Given the description of an element on the screen output the (x, y) to click on. 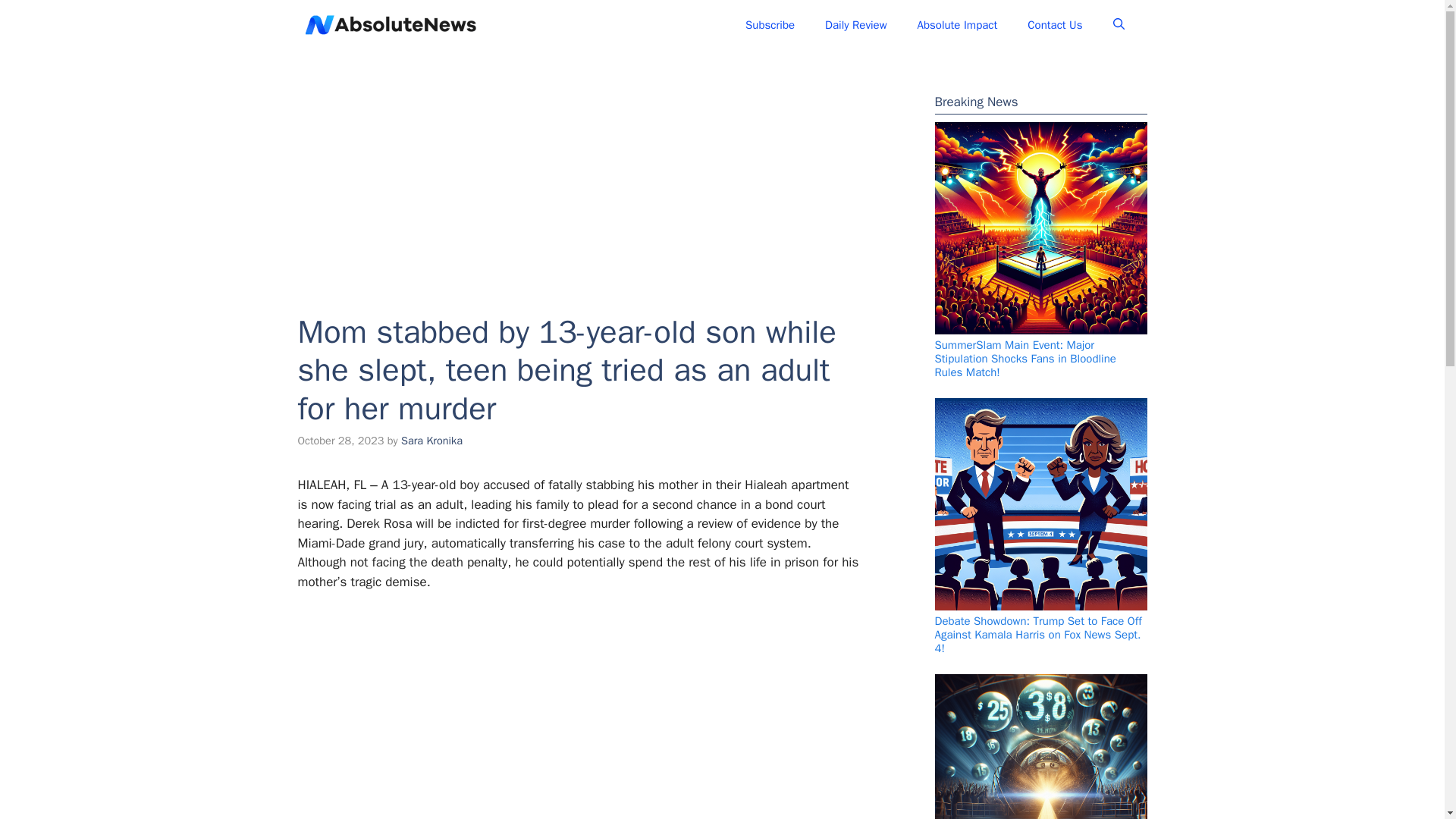
Sara Kronika (432, 440)
Subscribe (769, 23)
Contact Us (1054, 23)
Absolute News (390, 24)
Daily Review (855, 23)
Absolute Impact (957, 23)
View all posts by Sara Kronika (432, 440)
Absolute News (545, 24)
